Given the description of an element on the screen output the (x, y) to click on. 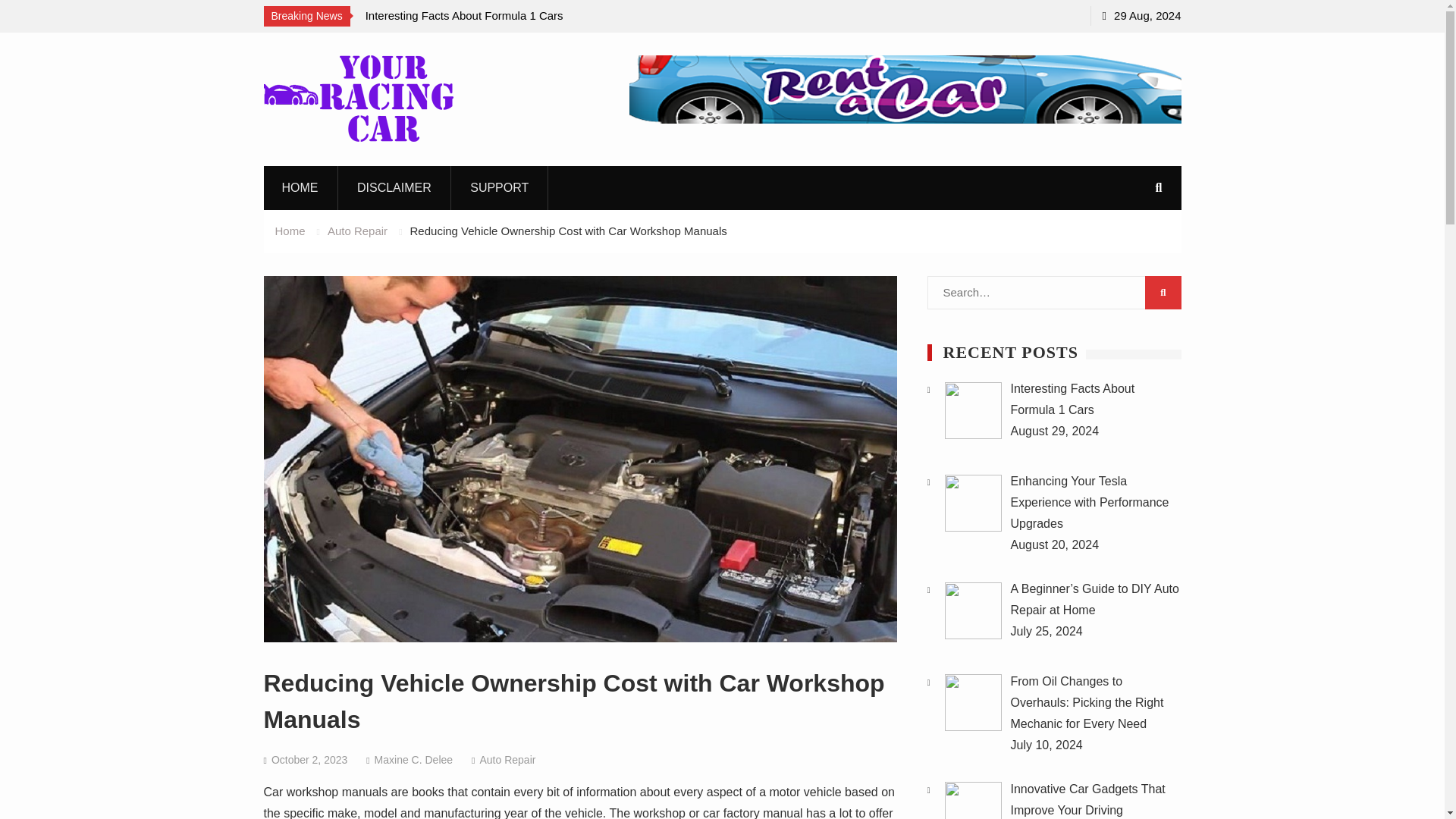
Interesting Facts About Formula 1 Cars (464, 15)
Enhancing Your Tesla Experience with Performance Upgrades (1089, 502)
Auto Repair (507, 759)
Home (289, 230)
Interesting Facts About Formula 1 Cars (1072, 399)
Auto Repair (357, 230)
DISCLAIMER (394, 187)
SUPPORT (499, 187)
HOME (299, 187)
Search for: (1053, 293)
